Given the description of an element on the screen output the (x, y) to click on. 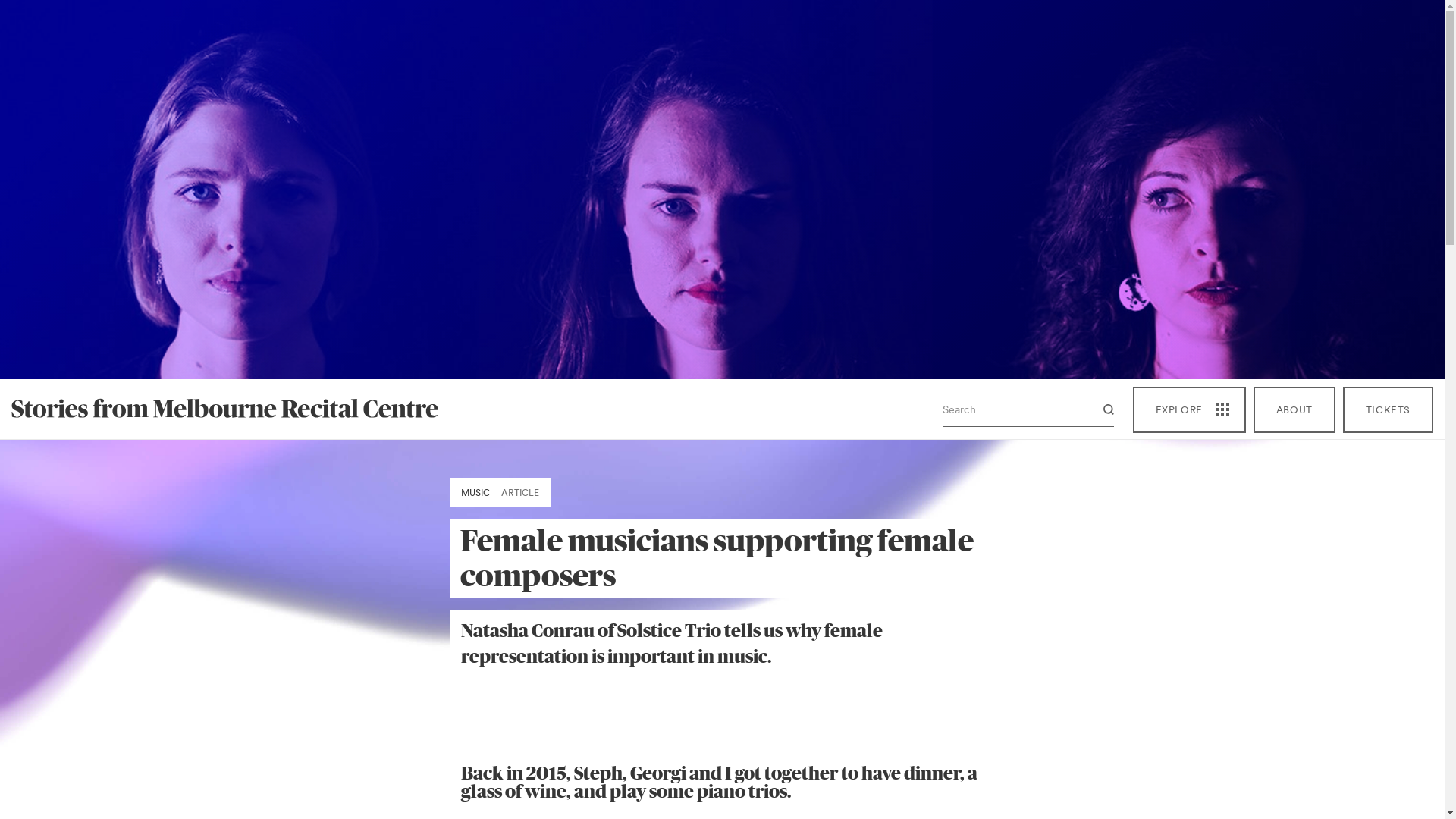
TERMS OF USE Element type: text (816, 805)
CONTACT US Element type: text (591, 805)
TICKETS Element type: text (1388, 409)
EXPLORE Element type: text (1188, 409)
ABOUT US Element type: text (378, 805)
PRIVACY POLICY Element type: text (1050, 805)
MUSIC Element type: text (475, 492)
Search Element type: text (1096, 409)
ARTICLE Element type: text (519, 492)
ABOUT Element type: text (1294, 409)
